Given the description of an element on the screen output the (x, y) to click on. 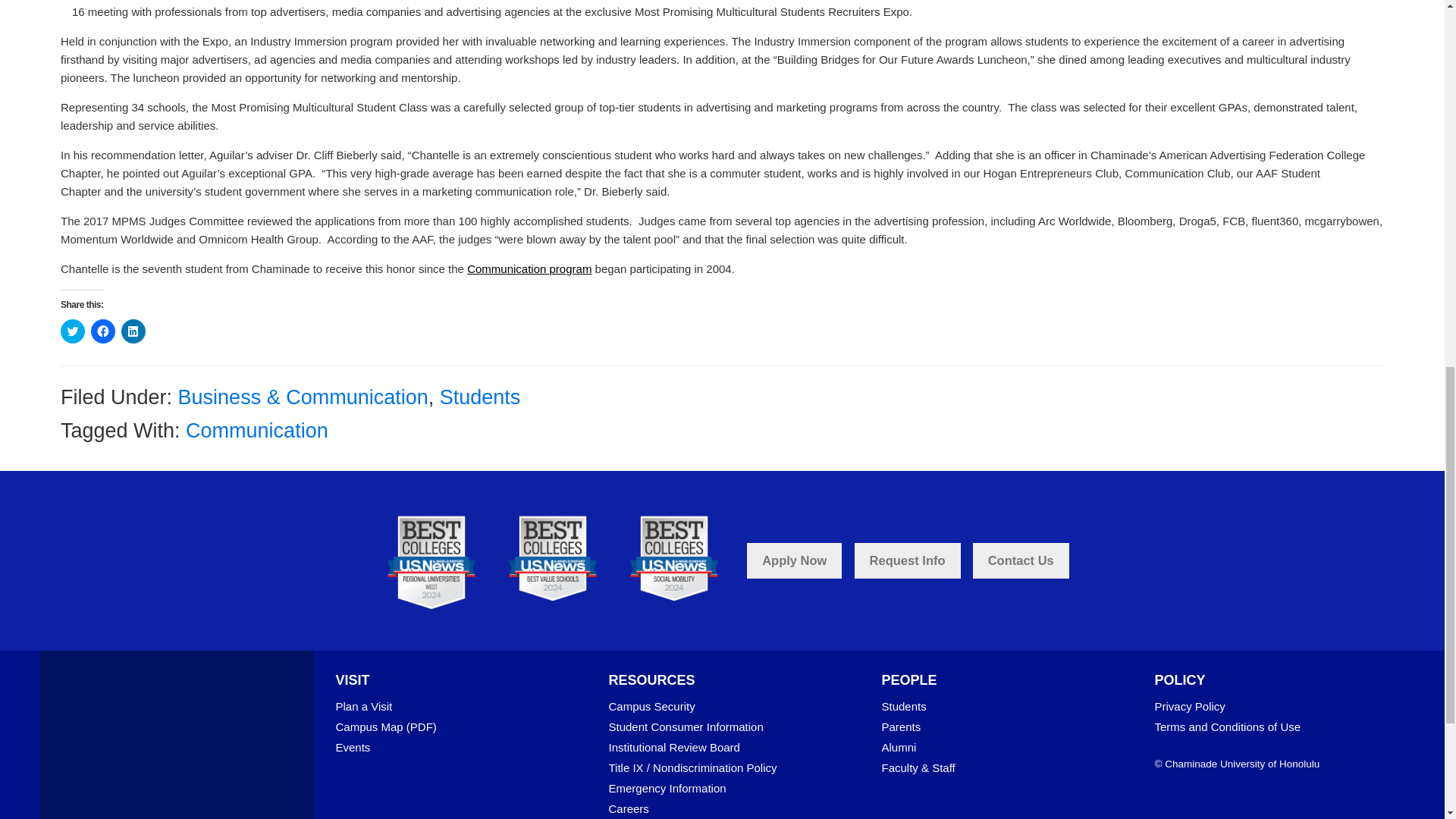
Click to share on Facebook (102, 331)
Click to share on LinkedIn (132, 331)
Click to share on Twitter (72, 331)
